Given the description of an element on the screen output the (x, y) to click on. 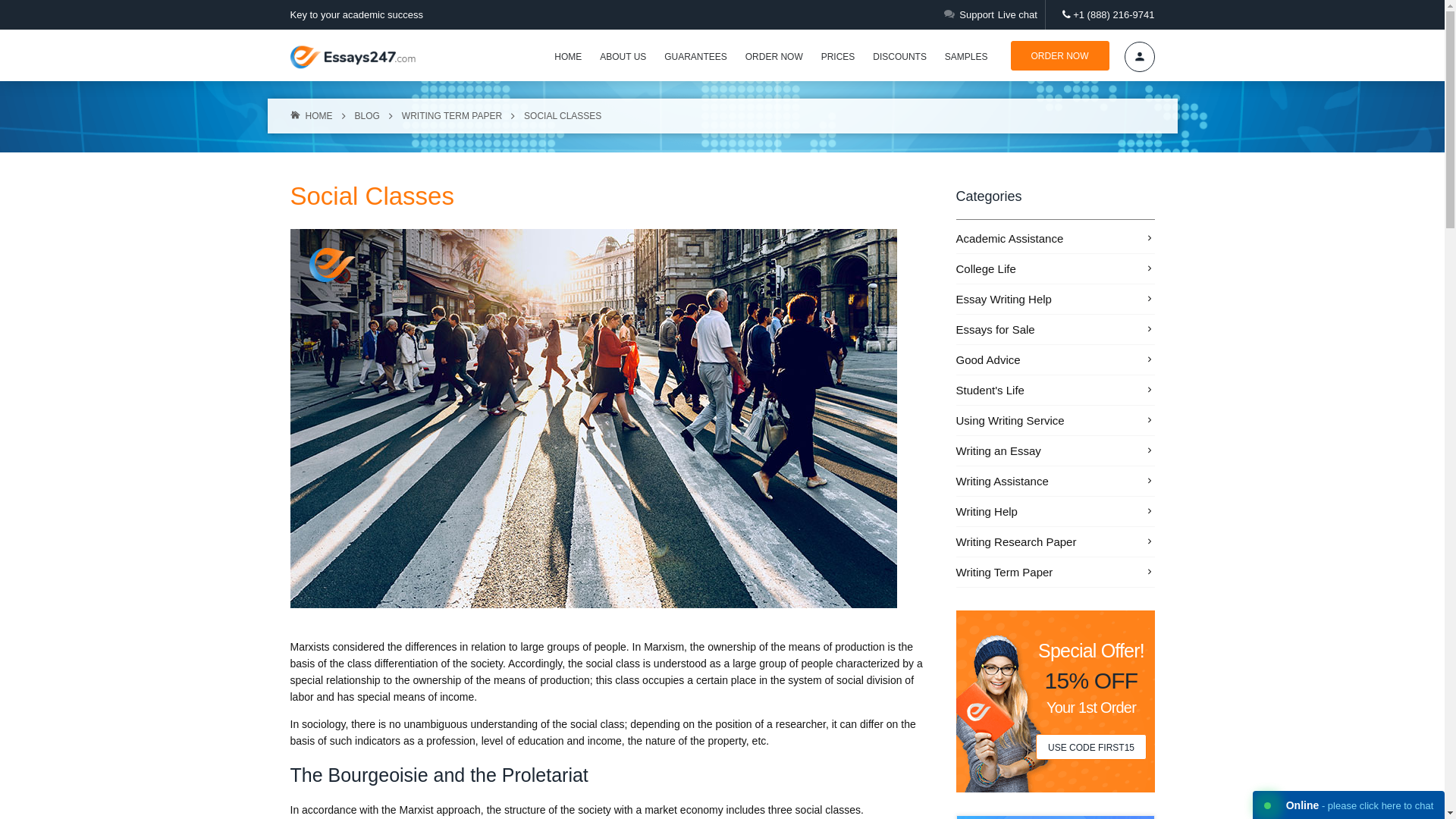
Student's Life (1054, 389)
WRITING TERM PAPER (451, 115)
ABOUT US (622, 56)
BLOG (367, 115)
  HOME (310, 115)
College Life (1054, 268)
Essays247.com (351, 56)
DISCOUNTS (899, 56)
Writing Research Paper (1054, 541)
Writing Assistance (1054, 480)
HOME (567, 56)
Writing an Essay (1054, 450)
Writing Help (1054, 511)
Using Writing Service (1054, 420)
Good Advice (1054, 359)
